Given the description of an element on the screen output the (x, y) to click on. 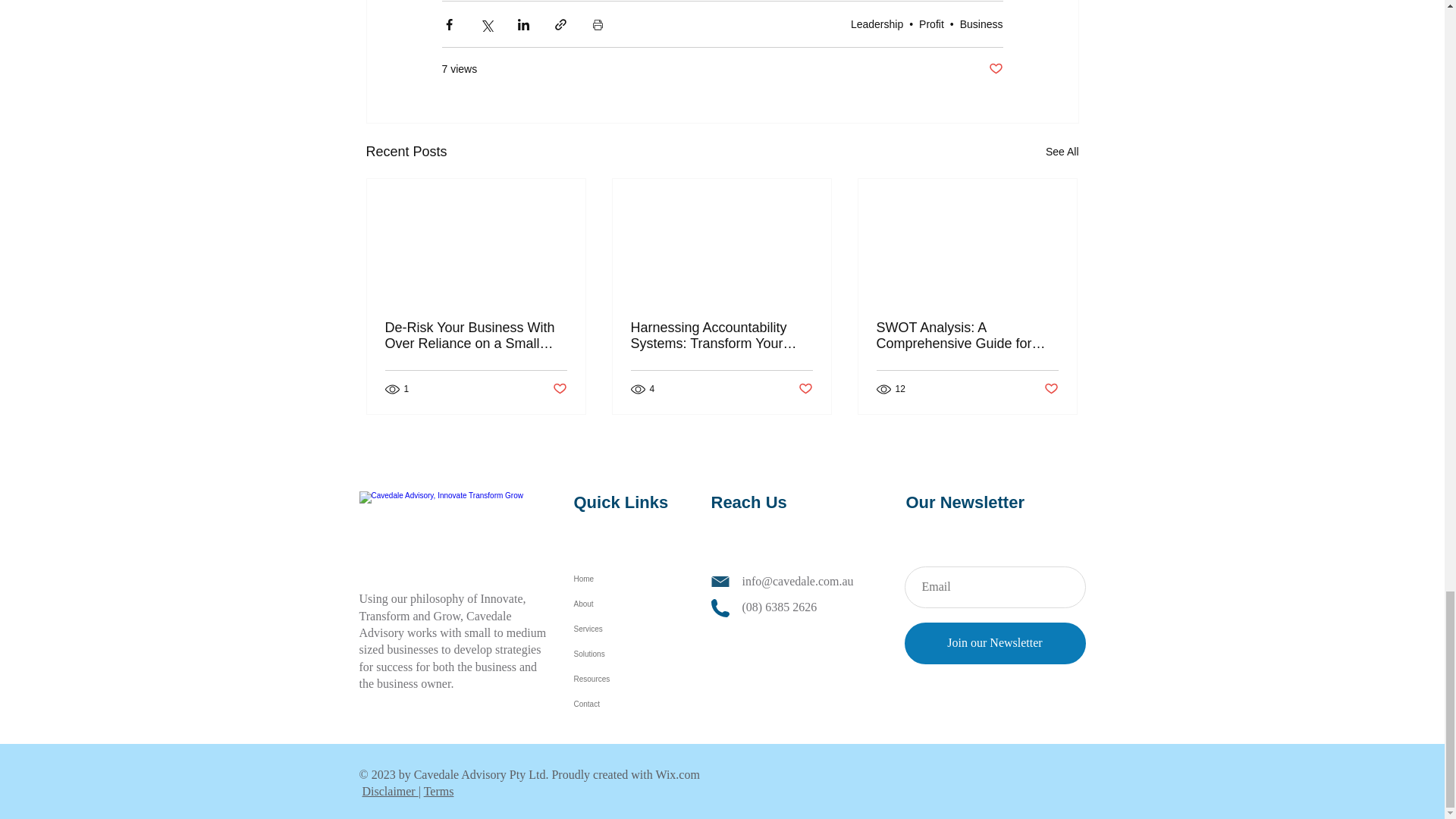
Business (981, 24)
Post not marked as liked (995, 68)
Profit (930, 24)
Leadership (876, 24)
Homepage (443, 528)
